Given the description of an element on the screen output the (x, y) to click on. 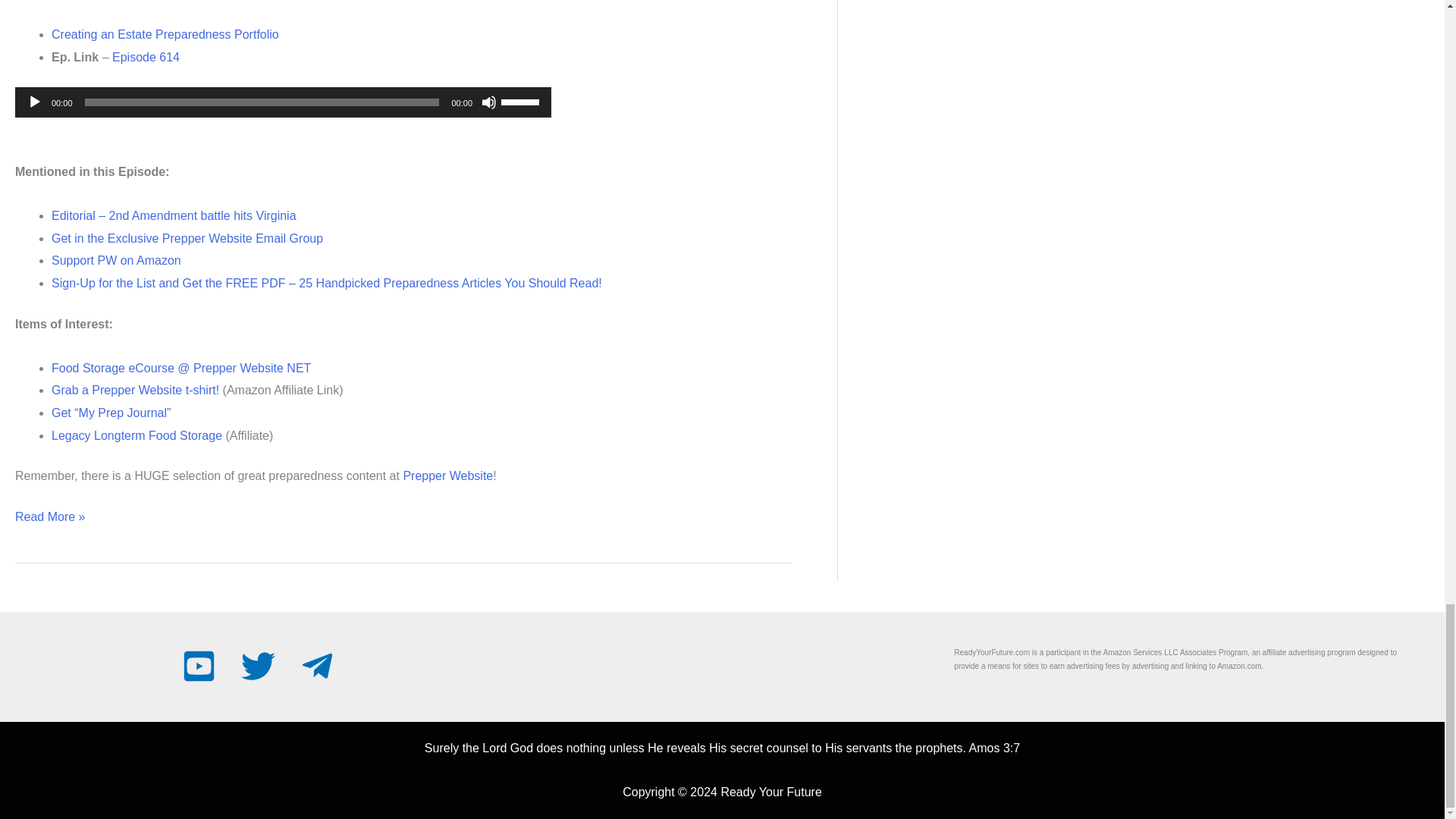
Play (34, 102)
Mute (488, 102)
